Given the description of an element on the screen output the (x, y) to click on. 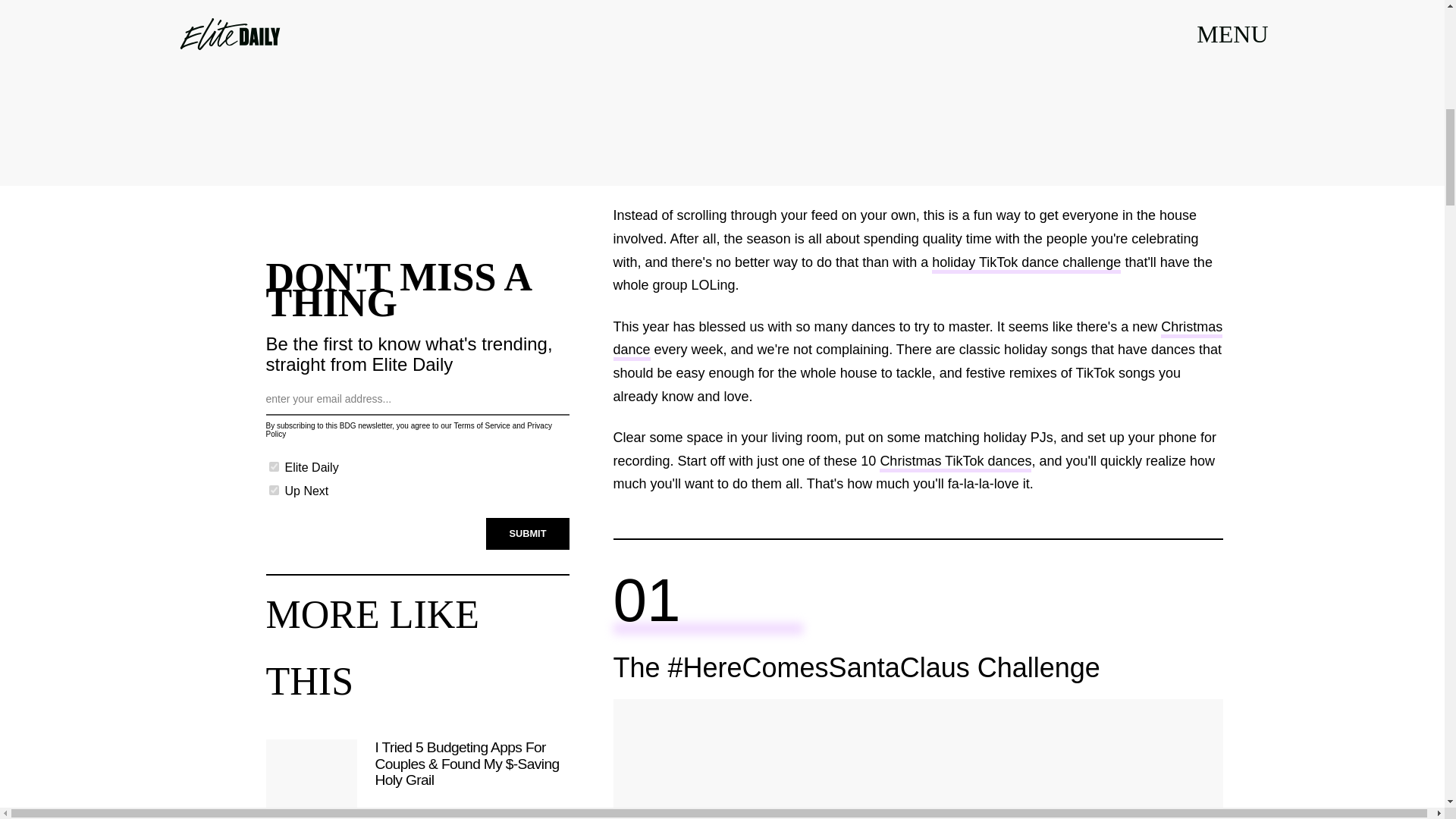
Terms of Service (480, 425)
Christmas TikTok dances (954, 462)
Christmas dance (917, 340)
holiday TikTok dance challenge (1026, 263)
SUBMIT (527, 533)
Privacy Policy (407, 429)
